Given the description of an element on the screen output the (x, y) to click on. 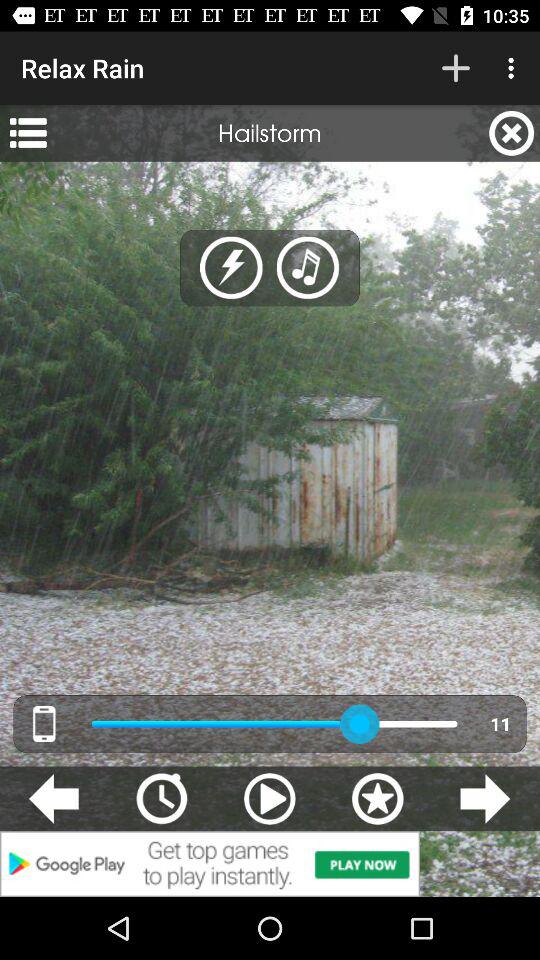
click the icon below hailstorm icon (231, 267)
